Given the description of an element on the screen output the (x, y) to click on. 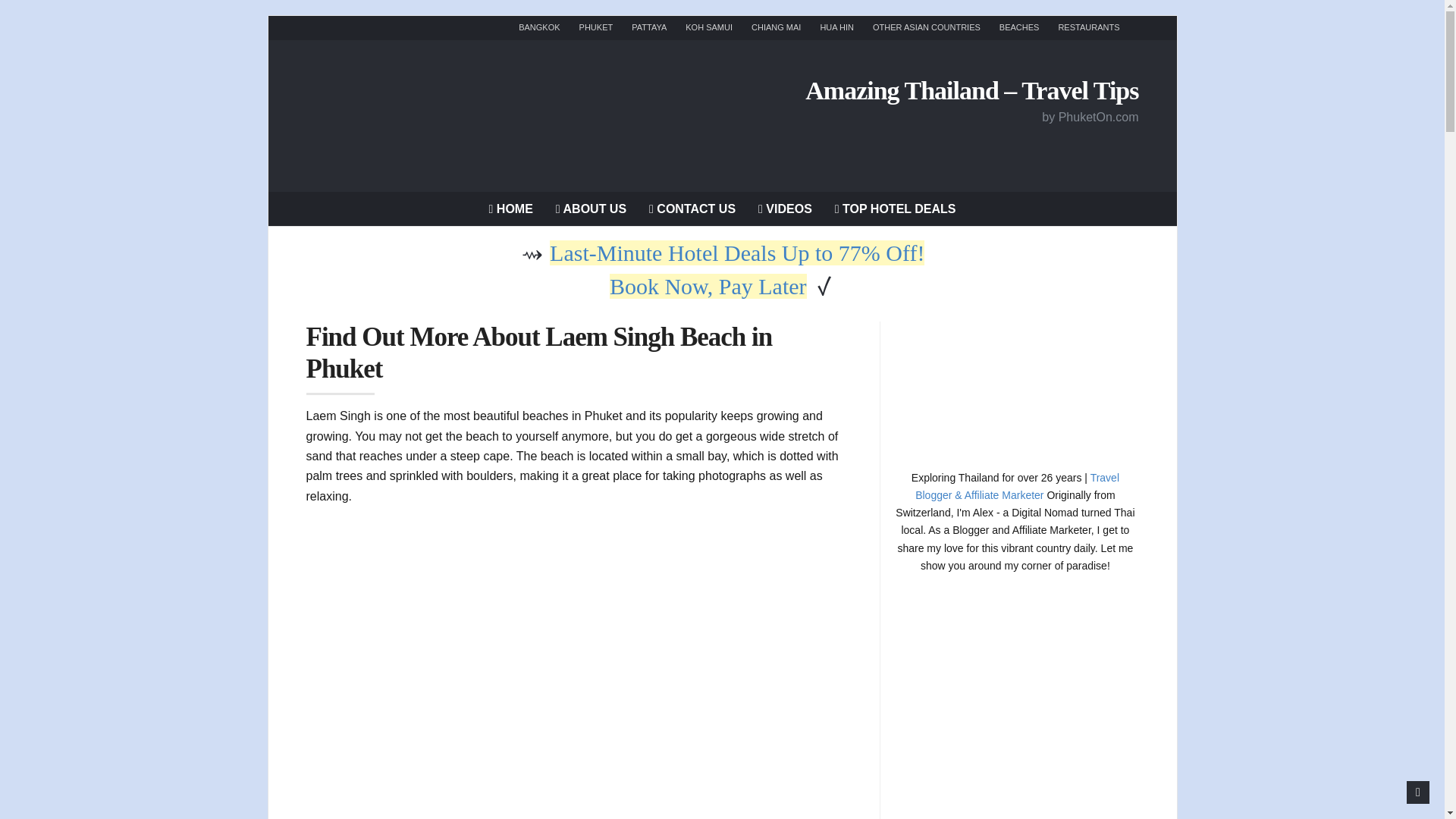
PATTAYA (648, 27)
PHUKET (595, 27)
BANGKOK (538, 27)
Book Now, Pay Later (708, 285)
Travel Tips PhuketOn  (510, 207)
CHIANG MAI (775, 27)
RESTAURANTS (1088, 27)
BEACHES (1018, 27)
Best Hotel Deals! (895, 207)
